Given the description of an element on the screen output the (x, y) to click on. 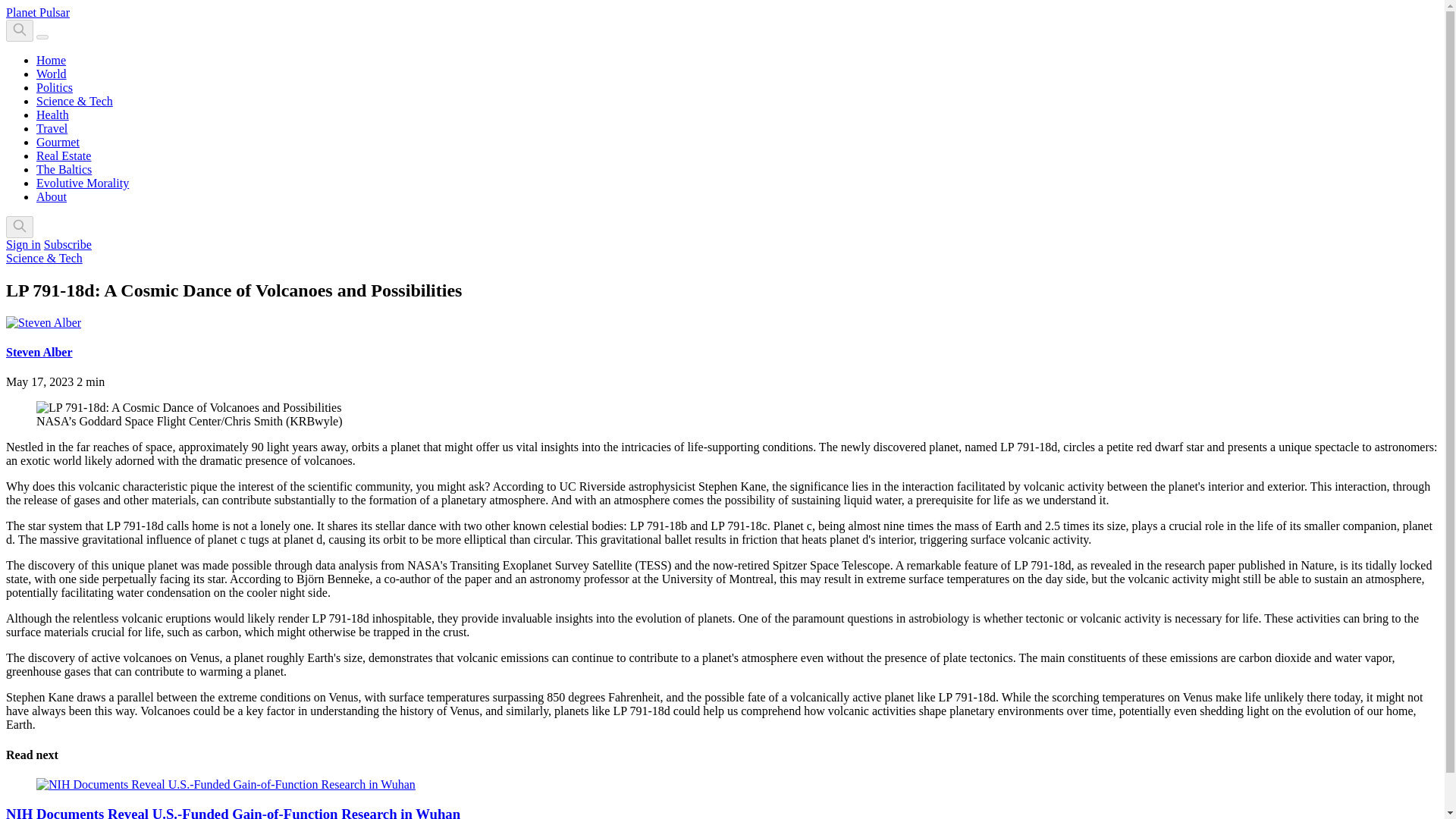
Real Estate (63, 155)
Gourmet (58, 141)
Evolutive Morality (82, 182)
Planet Pulsar (37, 11)
The Baltics (63, 169)
About (51, 196)
Politics (54, 87)
Subscribe (67, 244)
Home (50, 60)
Health (52, 114)
Steven Alber (38, 351)
World (51, 73)
Travel (51, 128)
Sign in (22, 244)
